Given the description of an element on the screen output the (x, y) to click on. 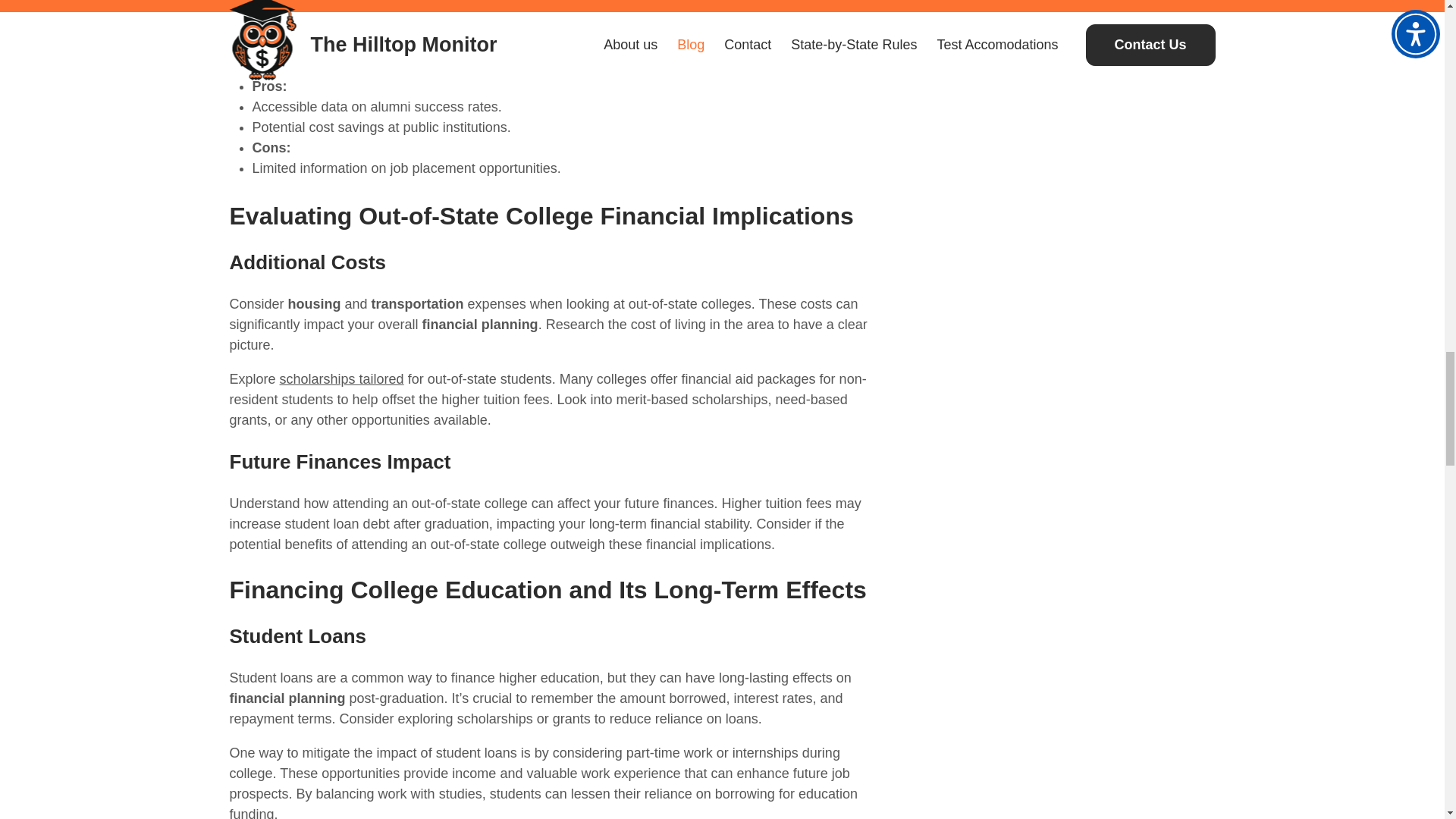
scholarships tailored (341, 378)
